Given the description of an element on the screen output the (x, y) to click on. 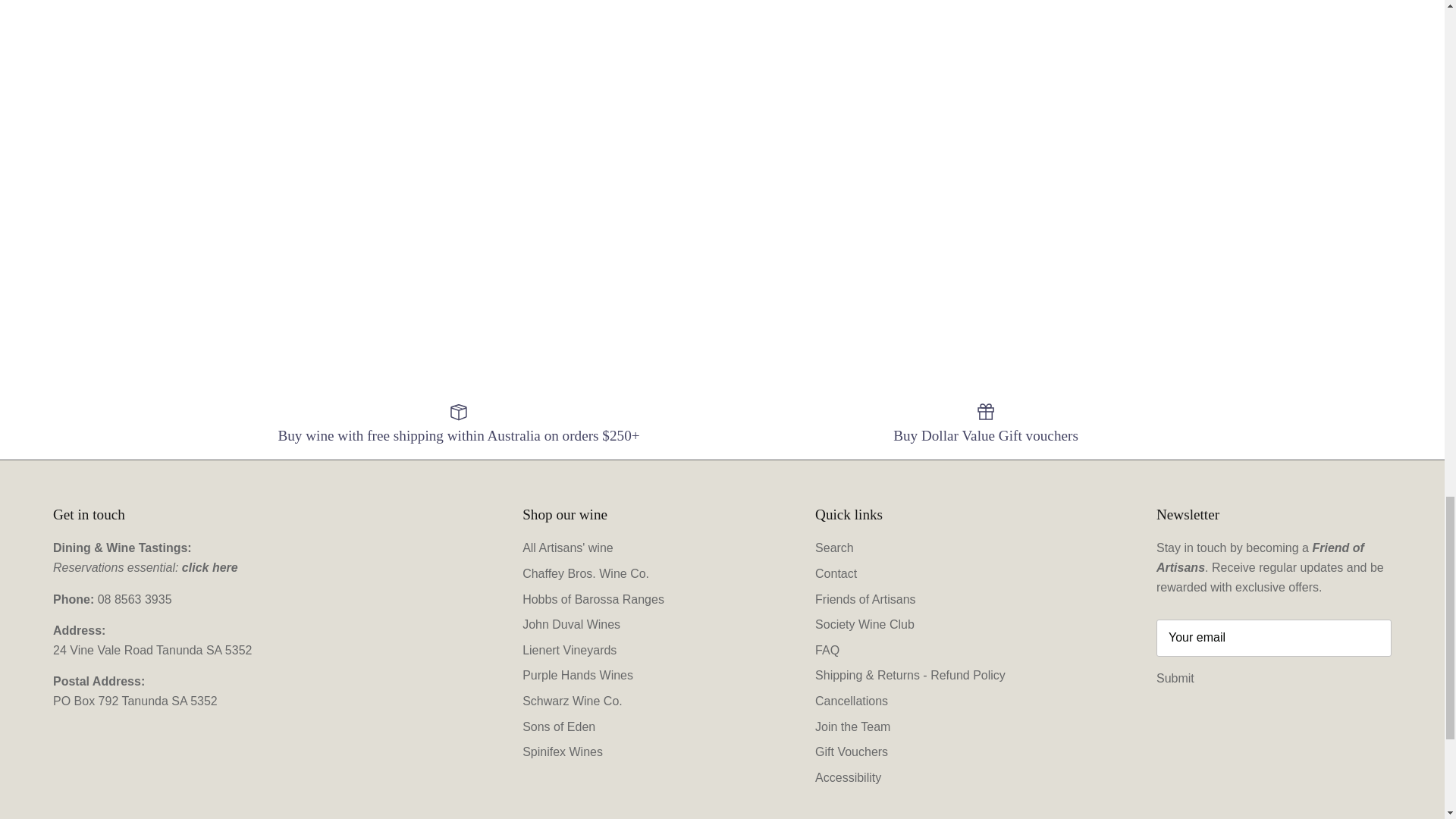
GOOGLE MAPS (151, 649)
tel:08 8563 3935 (134, 599)
Book (210, 567)
